Given the description of an element on the screen output the (x, y) to click on. 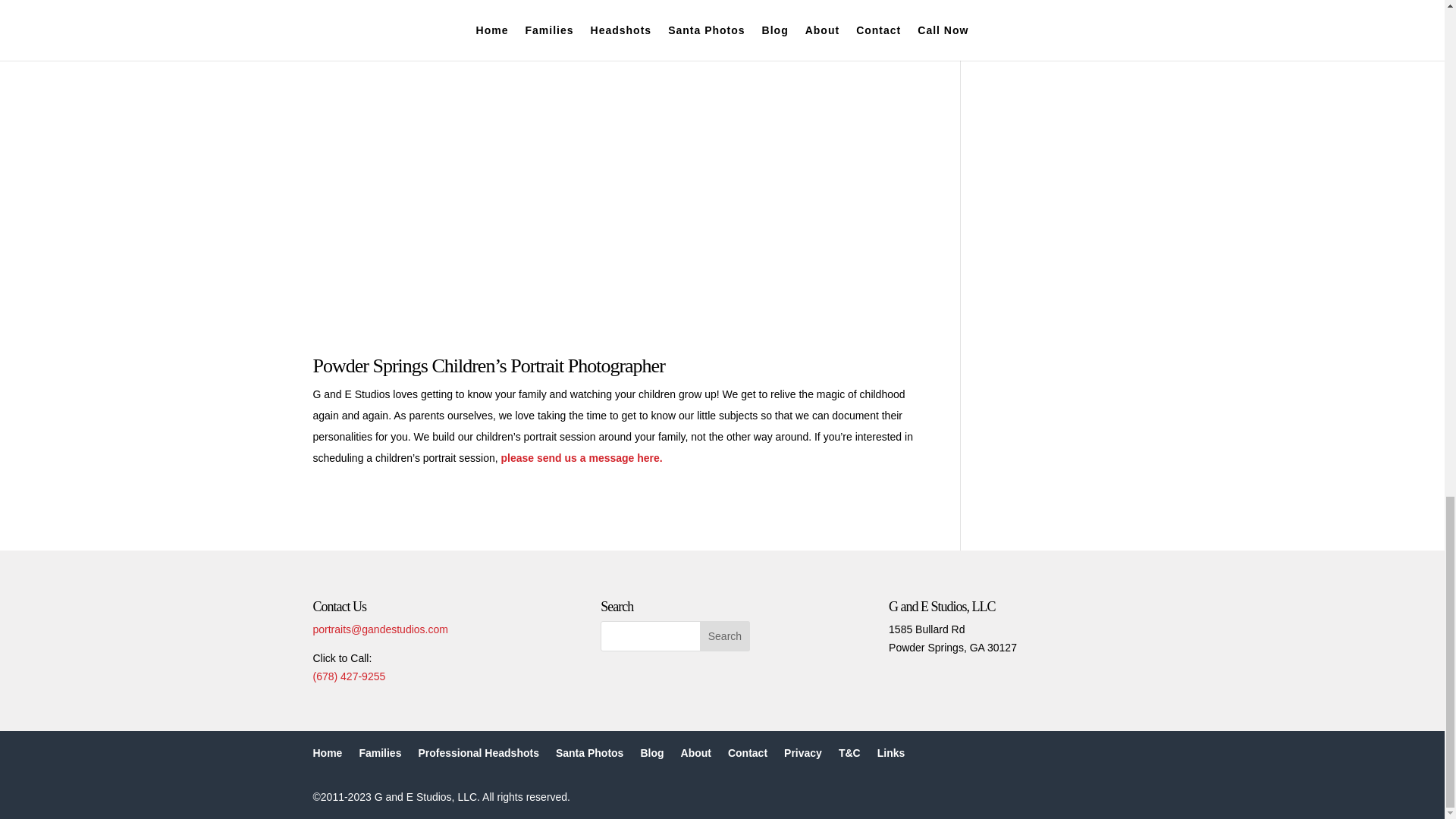
Home (327, 752)
Links (891, 752)
Families (379, 752)
Search (724, 635)
Santa Photos (589, 752)
Privacy (803, 752)
please send us a message here. (579, 458)
Blog (651, 752)
Search (724, 635)
Contact (747, 752)
